Given the description of an element on the screen output the (x, y) to click on. 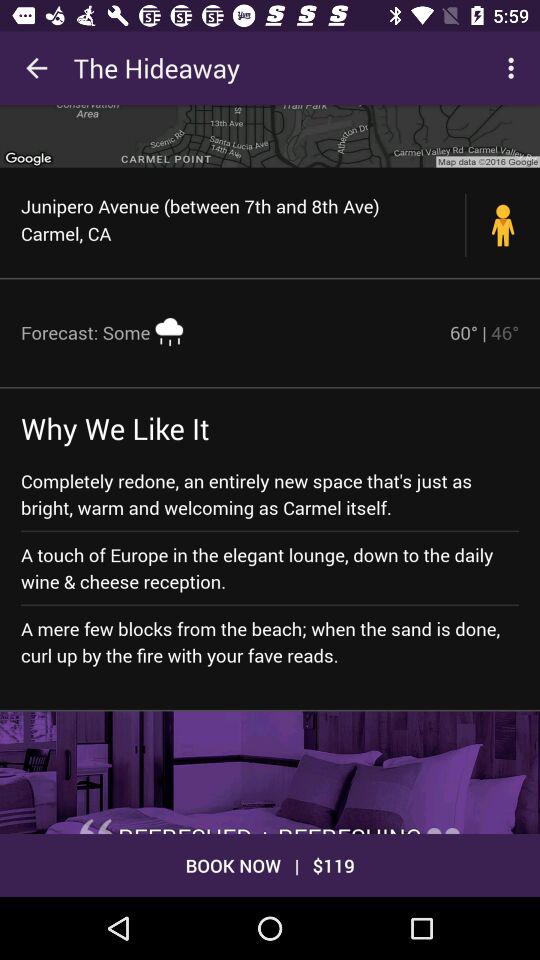
open the icon above book now   |   $119 icon (270, 772)
